Given the description of an element on the screen output the (x, y) to click on. 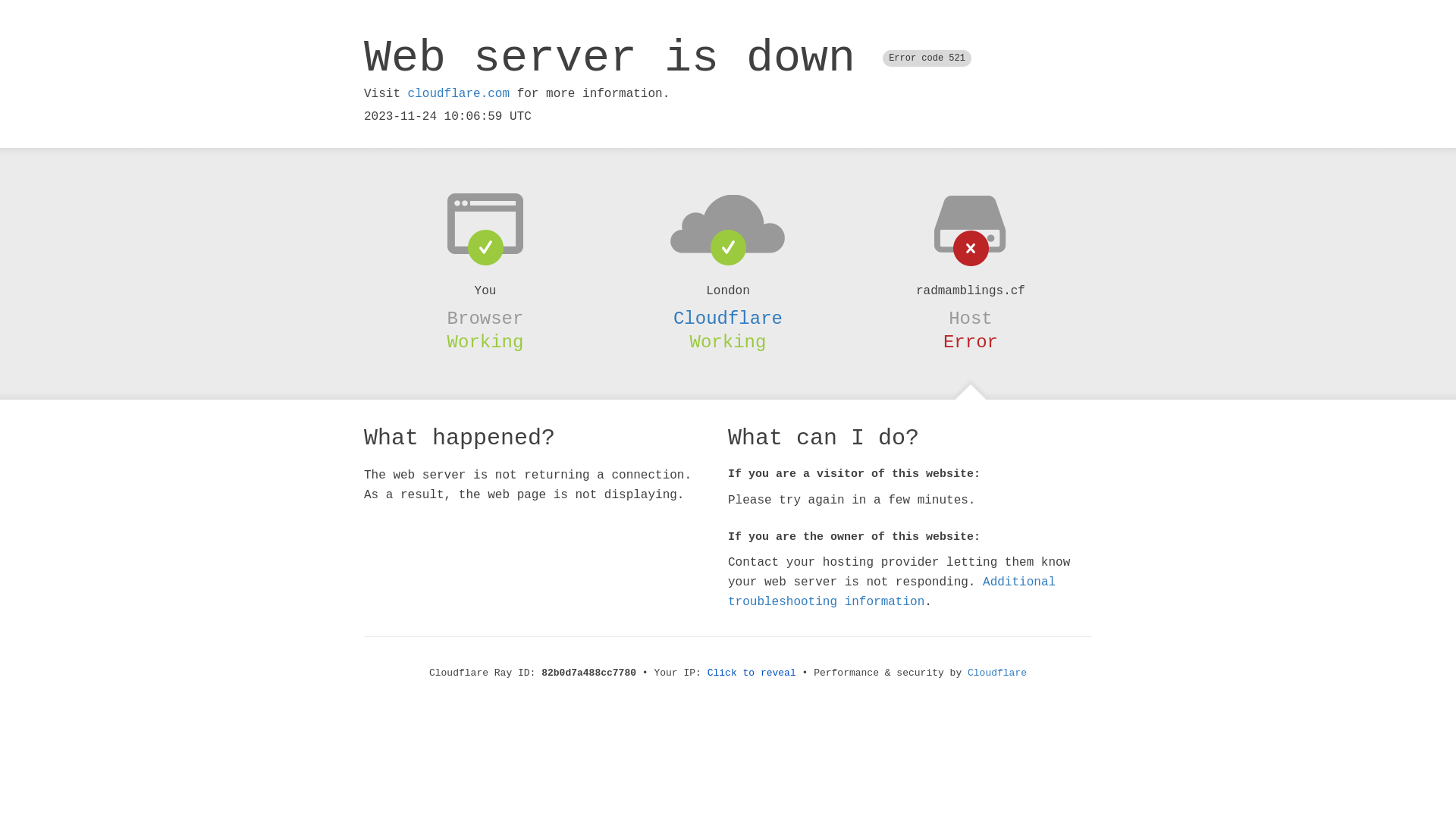
Click to reveal Element type: text (751, 672)
cloudflare.com Element type: text (458, 93)
Cloudflare Element type: text (996, 672)
Cloudflare Element type: text (727, 318)
Additional troubleshooting information Element type: text (891, 591)
